Given the description of an element on the screen output the (x, y) to click on. 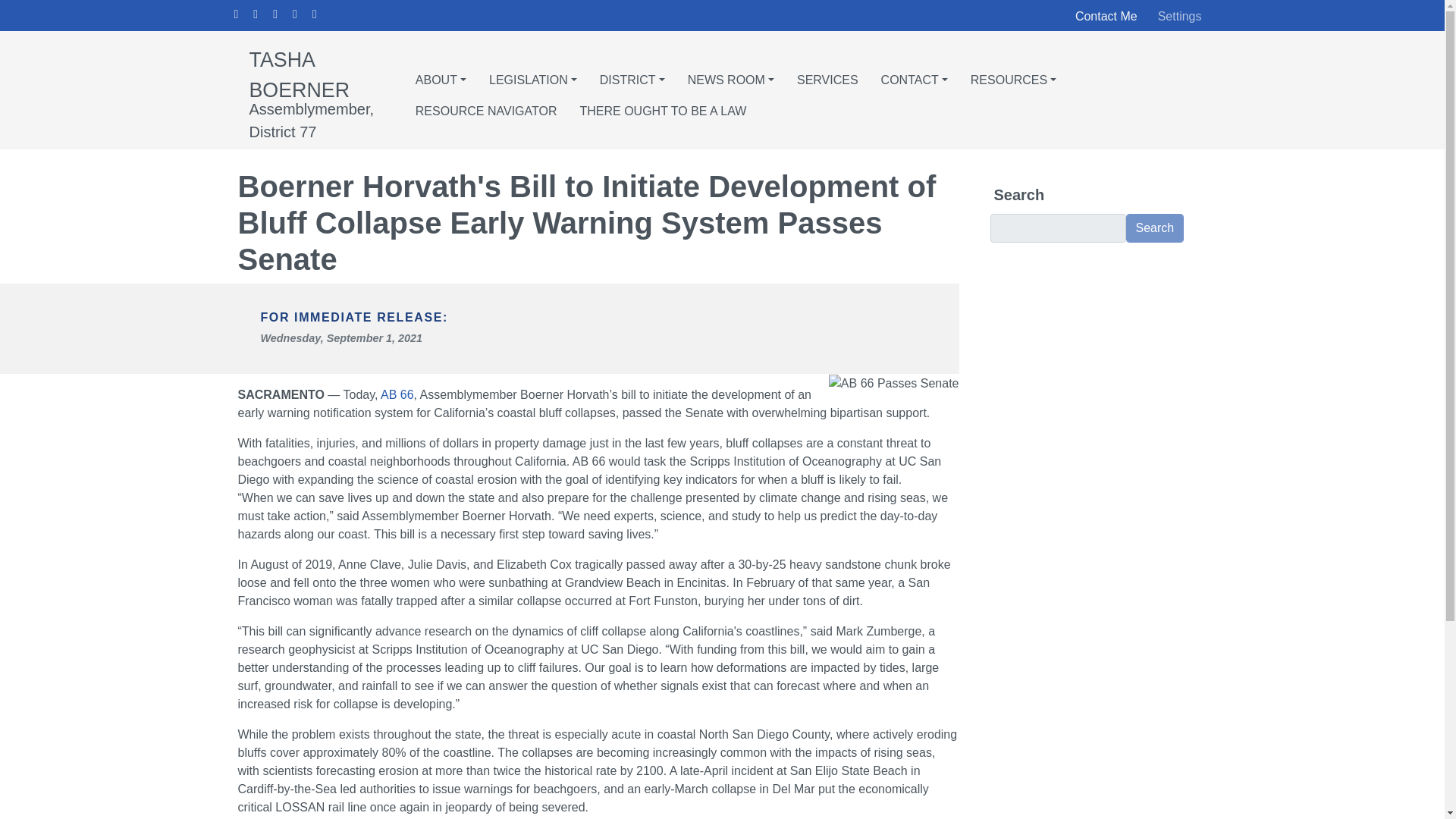
Contact Me (1106, 15)
CONTACT (913, 74)
DISTRICT (632, 74)
Search (1154, 227)
Enter the terms you wish to search for. (1057, 227)
SERVICES (827, 74)
TASHA BOERNER (298, 74)
Home (298, 74)
Settings (1179, 16)
